Given the description of an element on the screen output the (x, y) to click on. 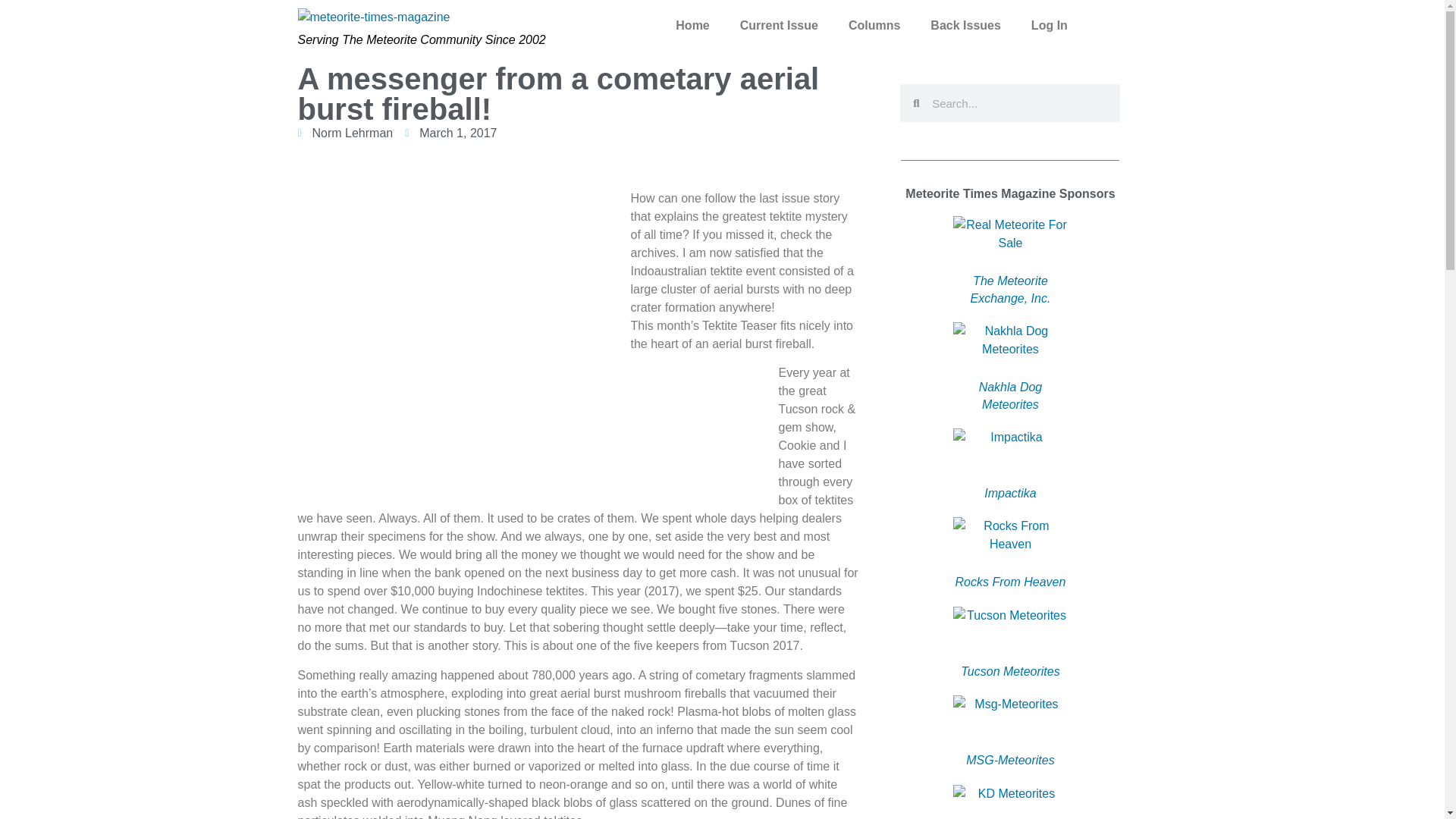
Log In (1049, 25)
Rocks From Heaven (1010, 581)
Nakhla Dog Meteorites (1010, 395)
Home (692, 25)
Meteorite Times Magazine (692, 25)
Impactika (1009, 492)
March 1, 2017 (450, 133)
Columns (873, 25)
MSG-Meteorites (1010, 759)
Tucson Meteorites (1009, 671)
meteorite-times-magazine (373, 21)
Norm Lehrman (345, 133)
The Meteorite Exchange, Inc. (1011, 288)
Current Issue (778, 25)
Back Issues (965, 25)
